Given the description of an element on the screen output the (x, y) to click on. 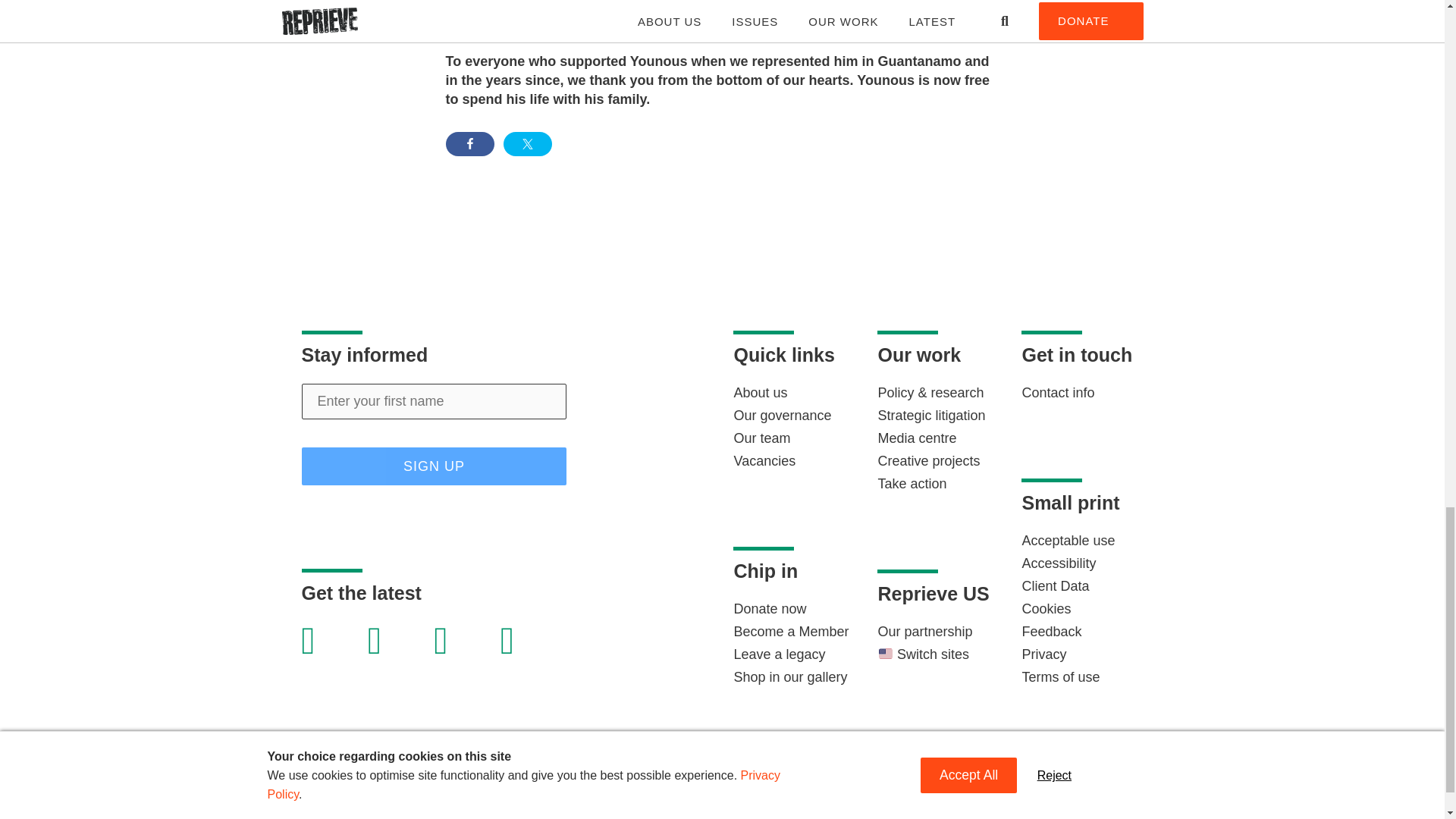
Sign up (434, 466)
About us (760, 392)
Sign up (434, 466)
